Given the description of an element on the screen output the (x, y) to click on. 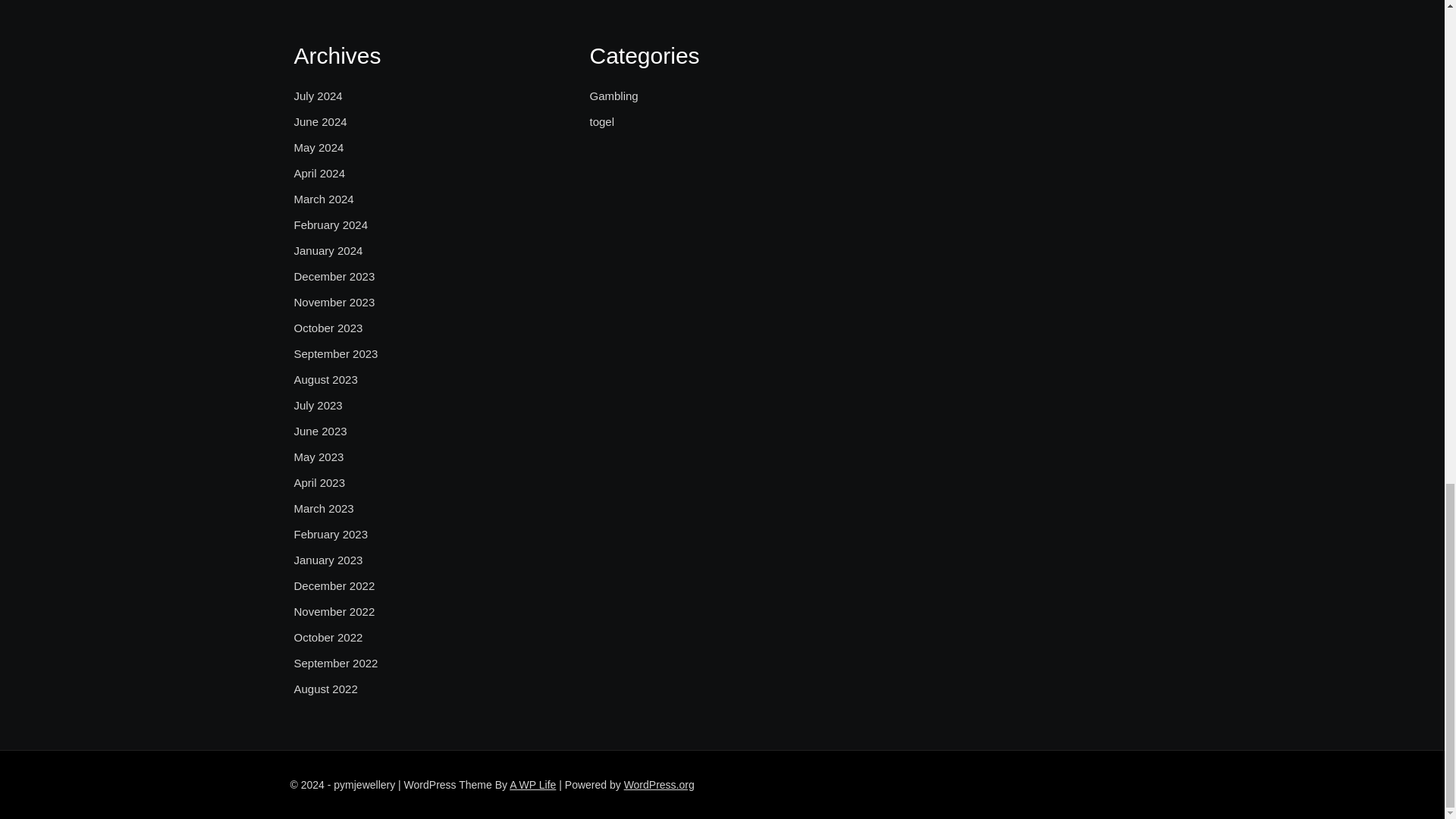
September 2023 (336, 353)
March 2024 (323, 199)
January 2024 (328, 250)
January 2023 (328, 560)
August 2022 (326, 689)
October 2023 (328, 328)
April 2024 (320, 173)
July 2023 (318, 405)
October 2022 (328, 637)
May 2023 (318, 456)
December 2023 (334, 276)
November 2022 (334, 611)
June 2023 (320, 431)
June 2024 (320, 122)
July 2024 (318, 95)
